Given the description of an element on the screen output the (x, y) to click on. 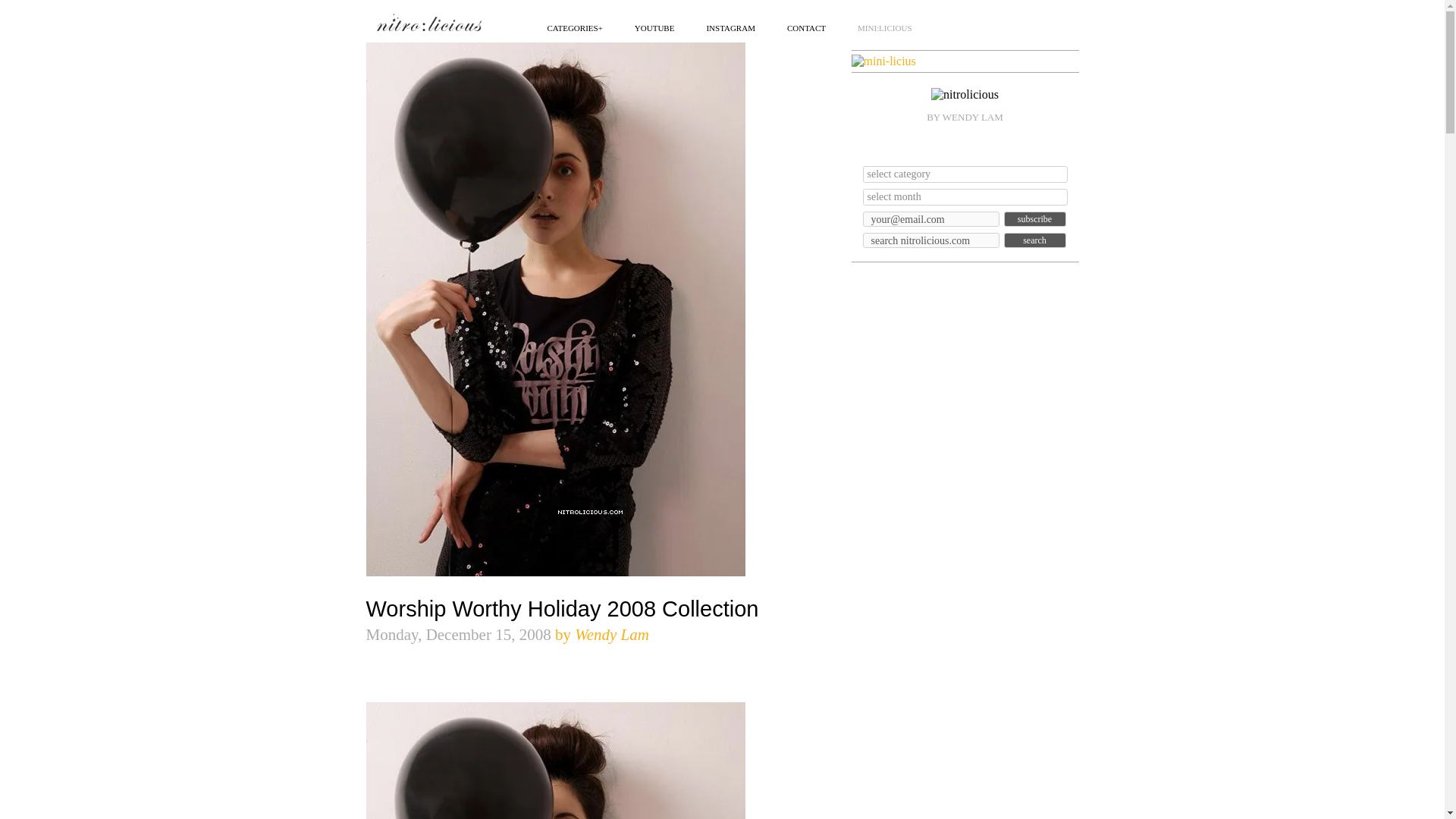
Subscribe (1034, 218)
Search (1034, 240)
Wendy Lam (612, 634)
CONTACT (806, 28)
worship worthy hol08 04 photo (554, 760)
MINI:LICIOUS (884, 28)
YOUTUBE (654, 28)
INSTAGRAM (730, 28)
